Given the description of an element on the screen output the (x, y) to click on. 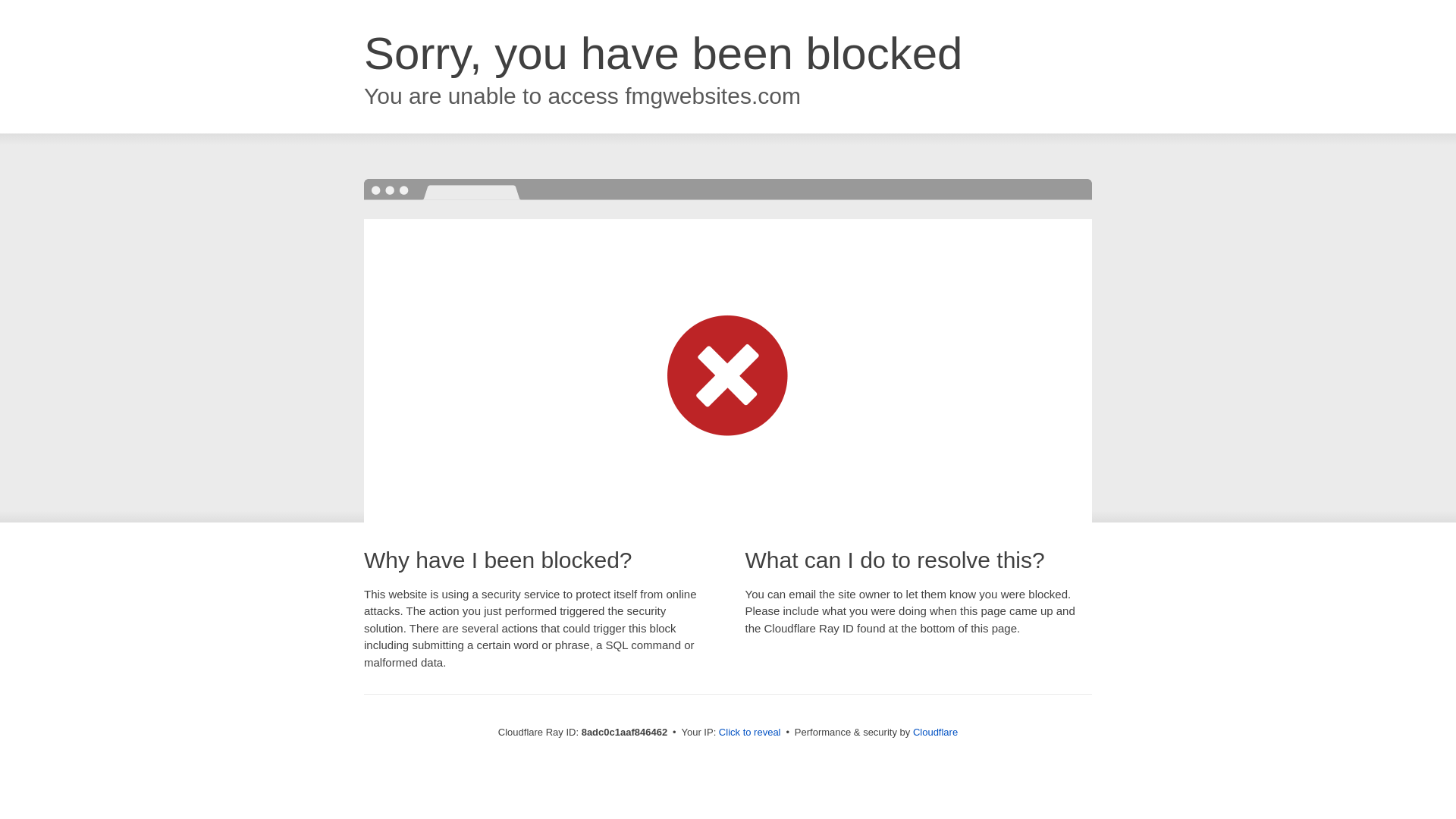
Cloudflare (935, 731)
Click to reveal (749, 732)
